Given the description of an element on the screen output the (x, y) to click on. 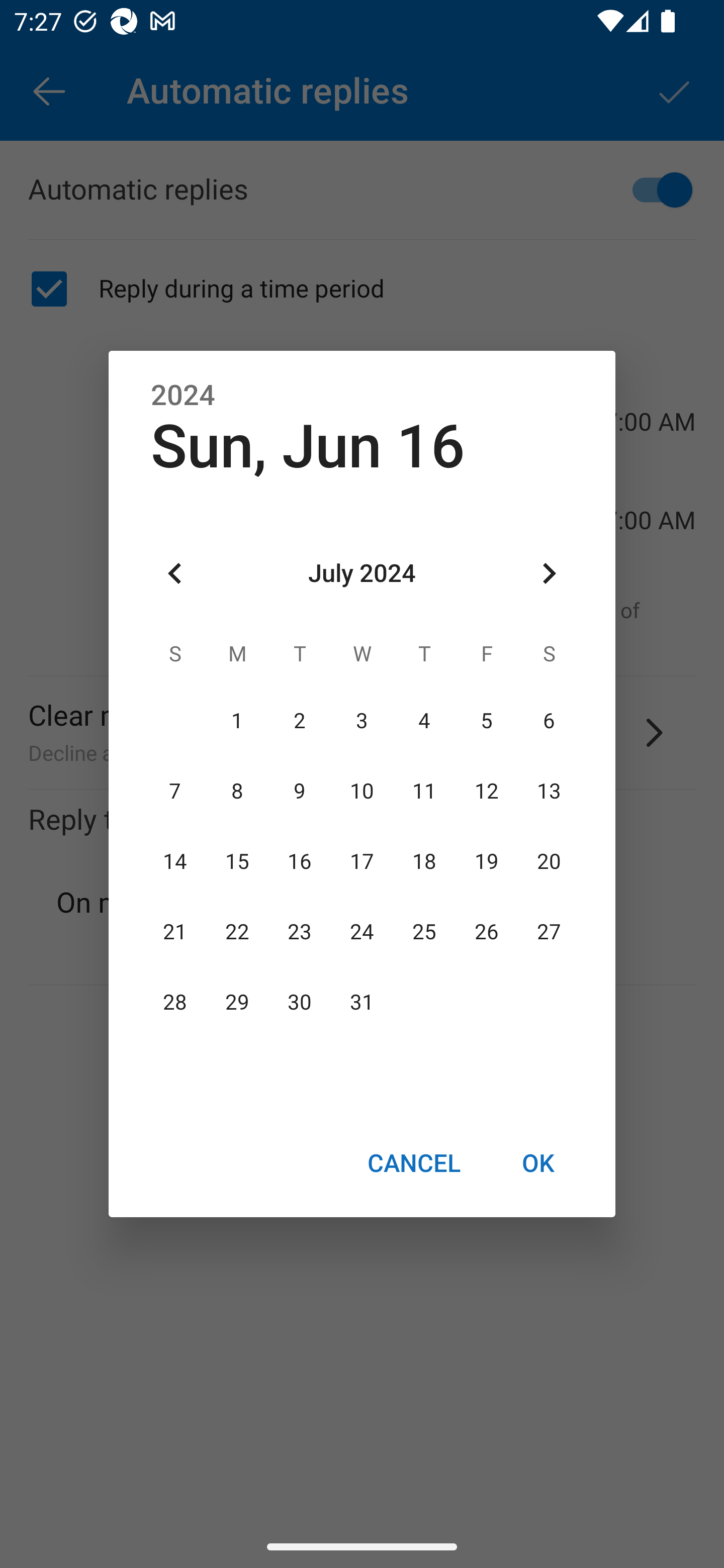
2024 (182, 395)
Sun, Jun 16 (307, 446)
Previous month (174, 573)
Next month (548, 573)
1 01 July 2024 (237, 720)
2 02 July 2024 (299, 720)
3 03 July 2024 (361, 720)
4 04 July 2024 (424, 720)
5 05 July 2024 (486, 720)
6 06 July 2024 (548, 720)
7 07 July 2024 (175, 790)
8 08 July 2024 (237, 790)
9 09 July 2024 (299, 790)
10 10 July 2024 (361, 790)
11 11 July 2024 (424, 790)
12 12 July 2024 (486, 790)
13 13 July 2024 (548, 790)
14 14 July 2024 (175, 861)
15 15 July 2024 (237, 861)
16 16 July 2024 (299, 861)
17 17 July 2024 (361, 861)
18 18 July 2024 (424, 861)
19 19 July 2024 (486, 861)
20 20 July 2024 (548, 861)
21 21 July 2024 (175, 931)
22 22 July 2024 (237, 931)
23 23 July 2024 (299, 931)
24 24 July 2024 (361, 931)
25 25 July 2024 (424, 931)
26 26 July 2024 (486, 931)
27 27 July 2024 (548, 931)
28 28 July 2024 (175, 1002)
29 29 July 2024 (237, 1002)
30 30 July 2024 (299, 1002)
31 31 July 2024 (361, 1002)
CANCEL (413, 1162)
OK (537, 1162)
